Given the description of an element on the screen output the (x, y) to click on. 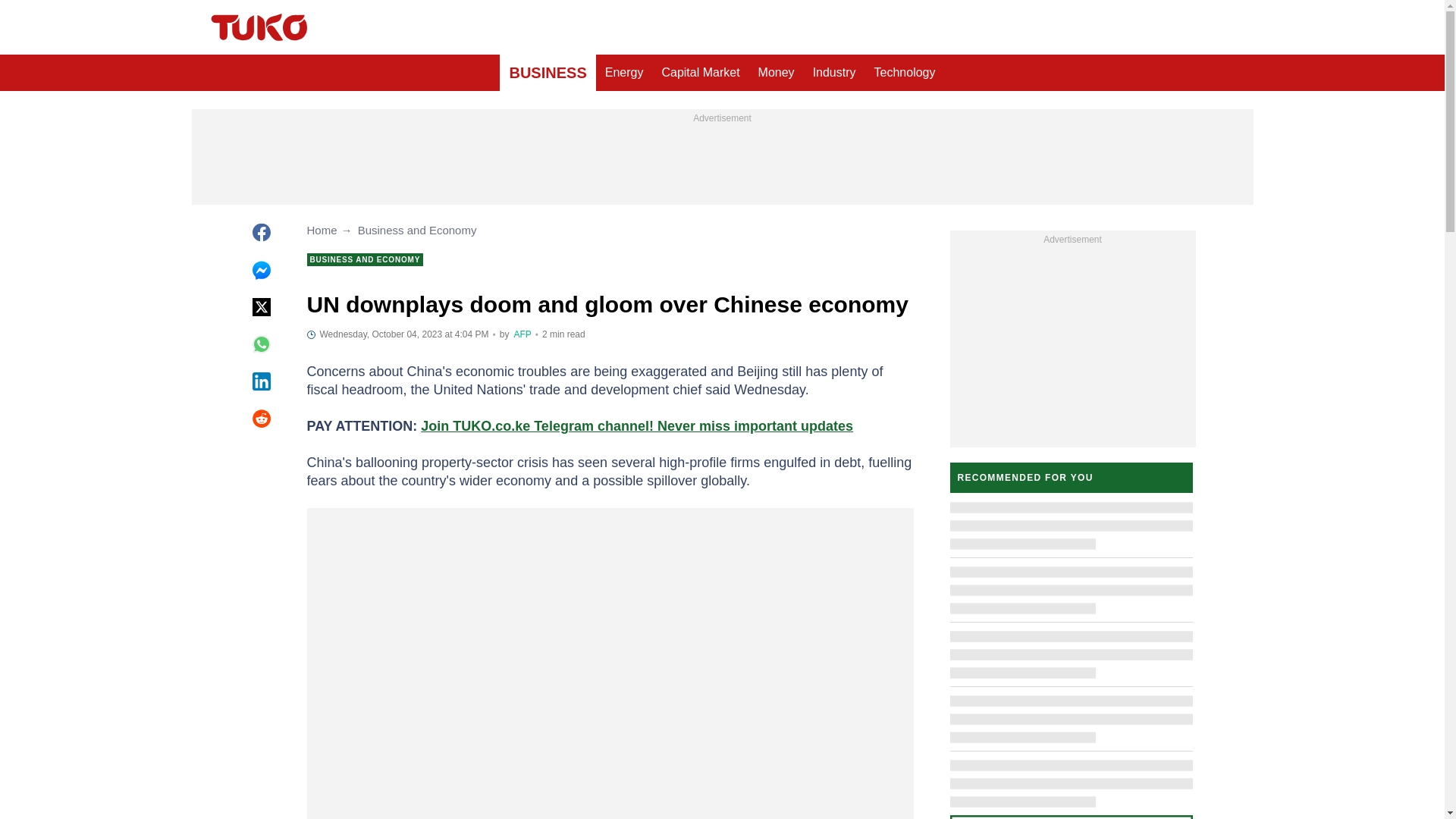
Industry (833, 72)
BUSINESS (547, 72)
Author page (522, 334)
Energy (623, 72)
Technology (904, 72)
Money (776, 72)
Capital Market (700, 72)
